Given the description of an element on the screen output the (x, y) to click on. 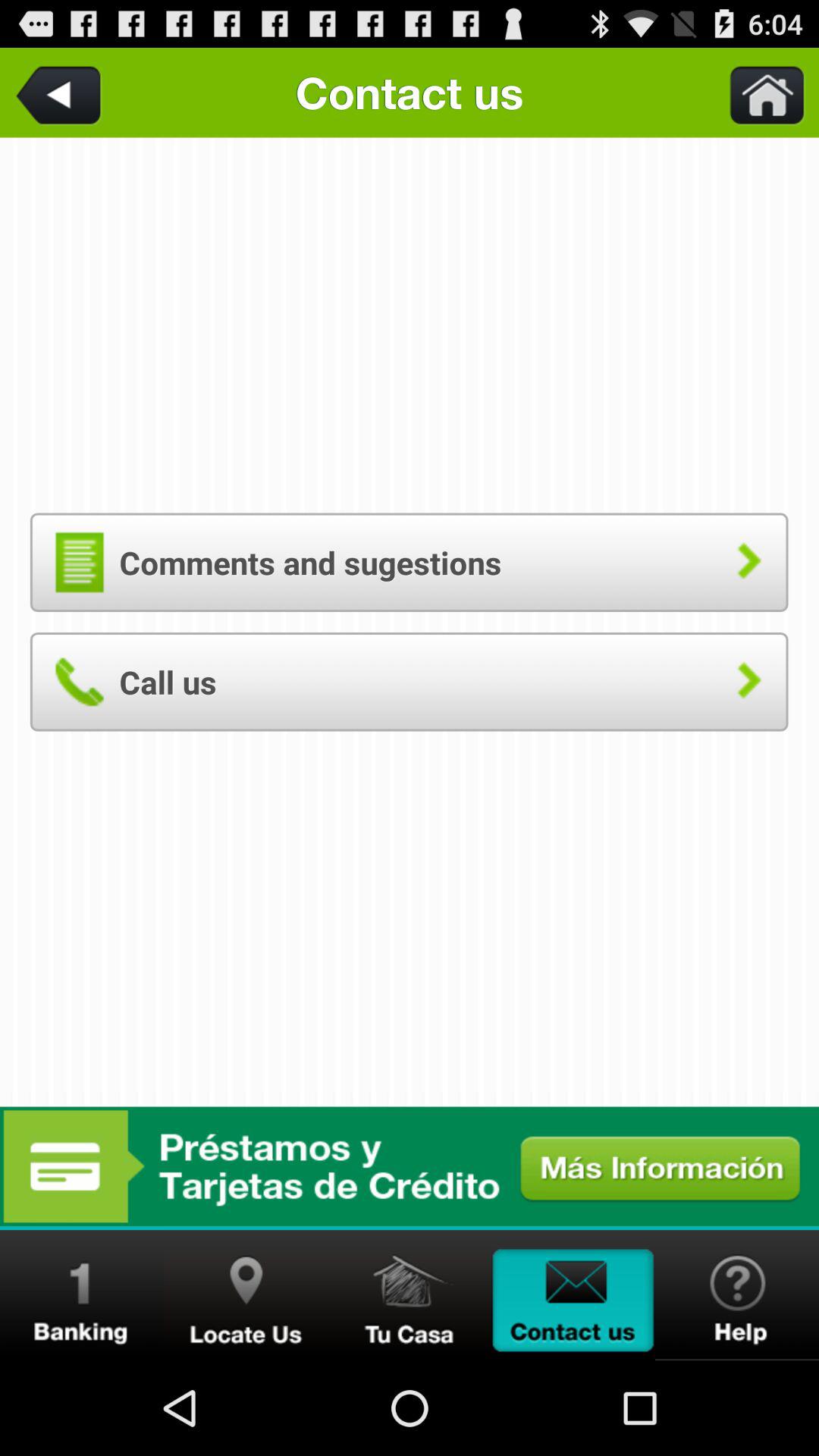
get help on the website (737, 1295)
